Given the description of an element on the screen output the (x, y) to click on. 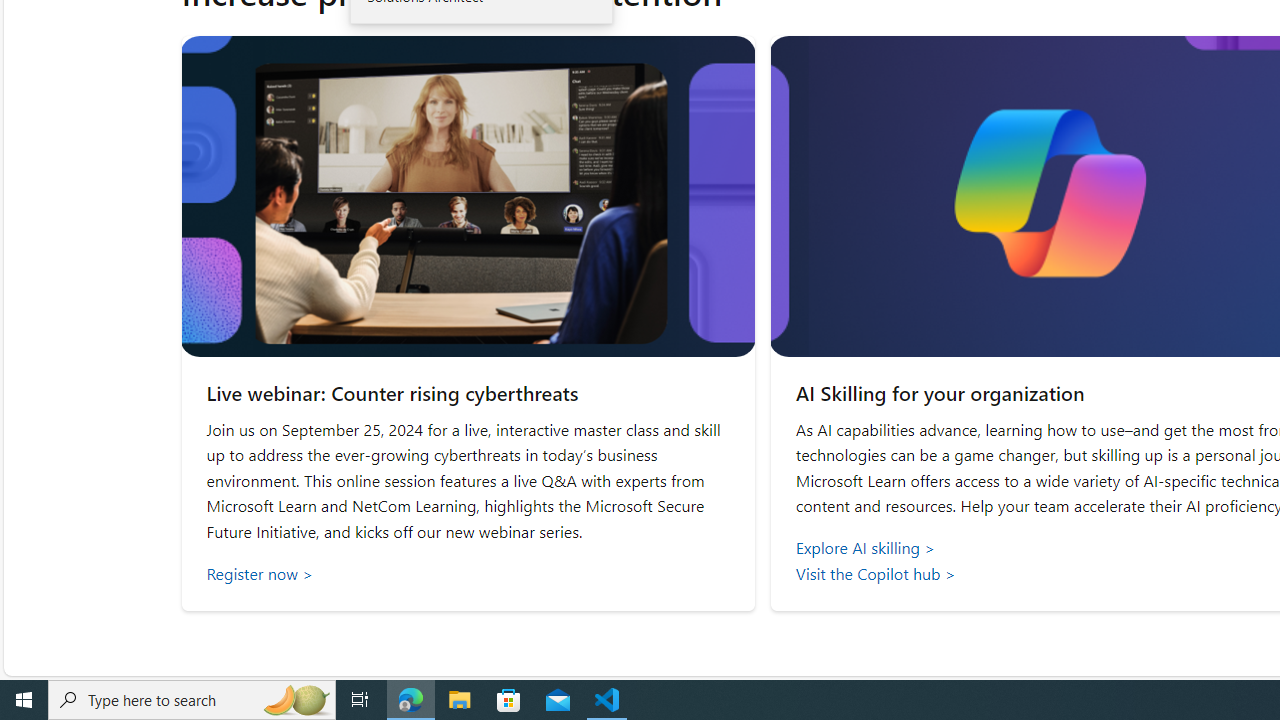
Register now > (467, 573)
